Given the description of an element on the screen output the (x, y) to click on. 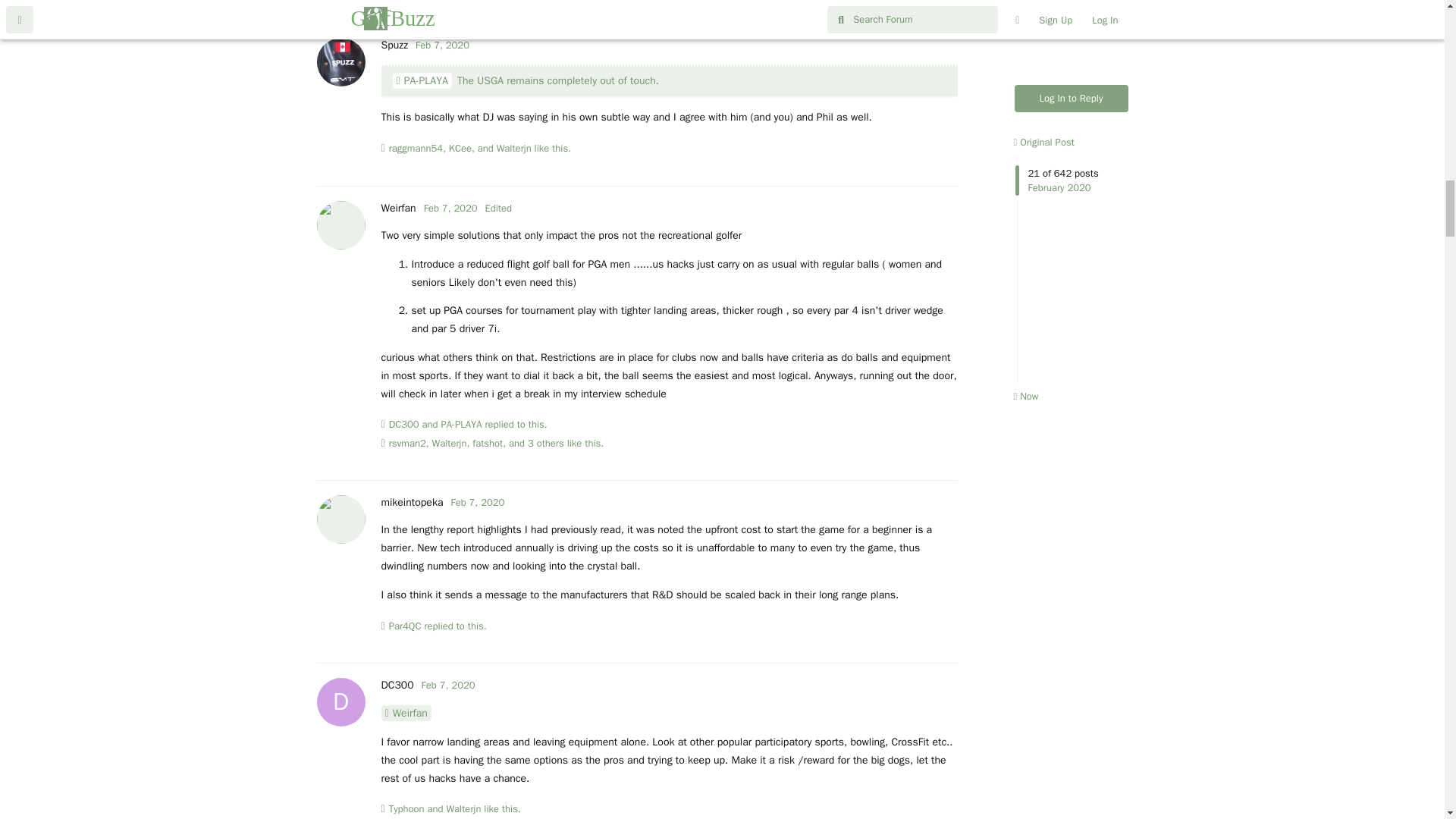
Friday, February 7, 2020 8:41 PM (441, 44)
Friday, February 7, 2020 11:01 PM (449, 684)
Friday, February 7, 2020 10:55 PM (476, 502)
Friday, February 7, 2020 9:18 PM (450, 207)
